Given the description of an element on the screen output the (x, y) to click on. 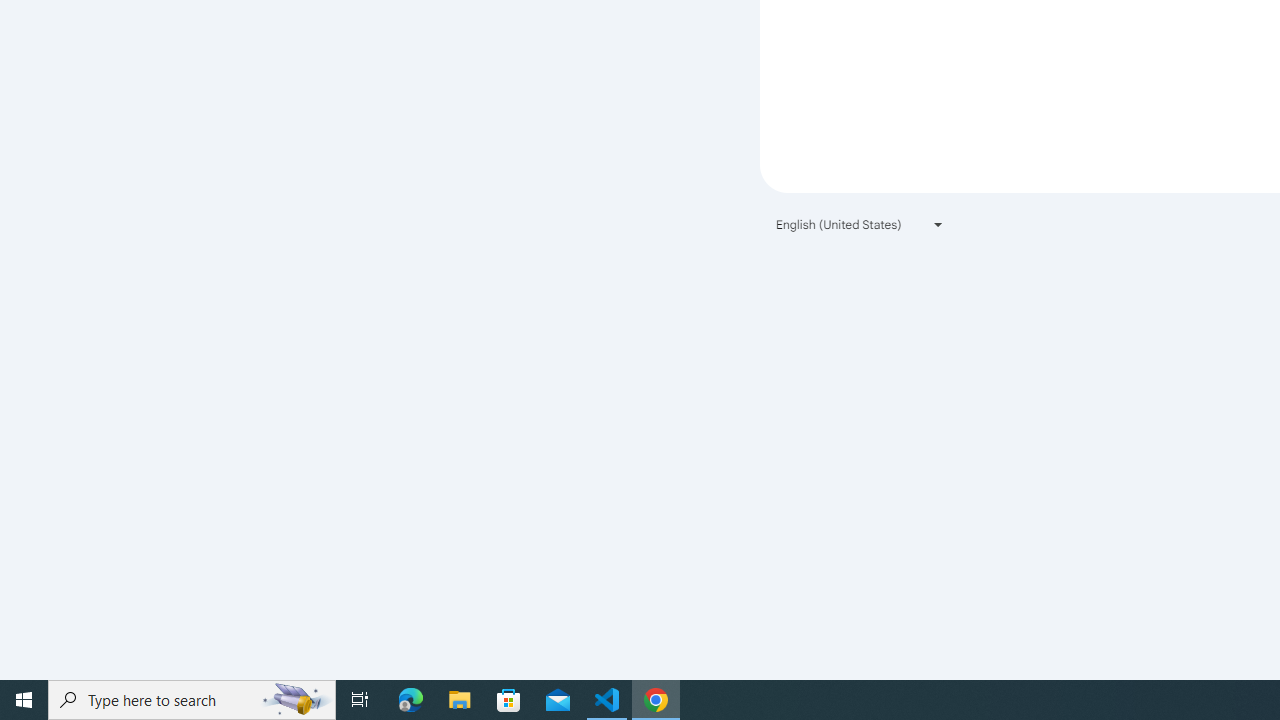
English (United States) (860, 224)
